Given the description of an element on the screen output the (x, y) to click on. 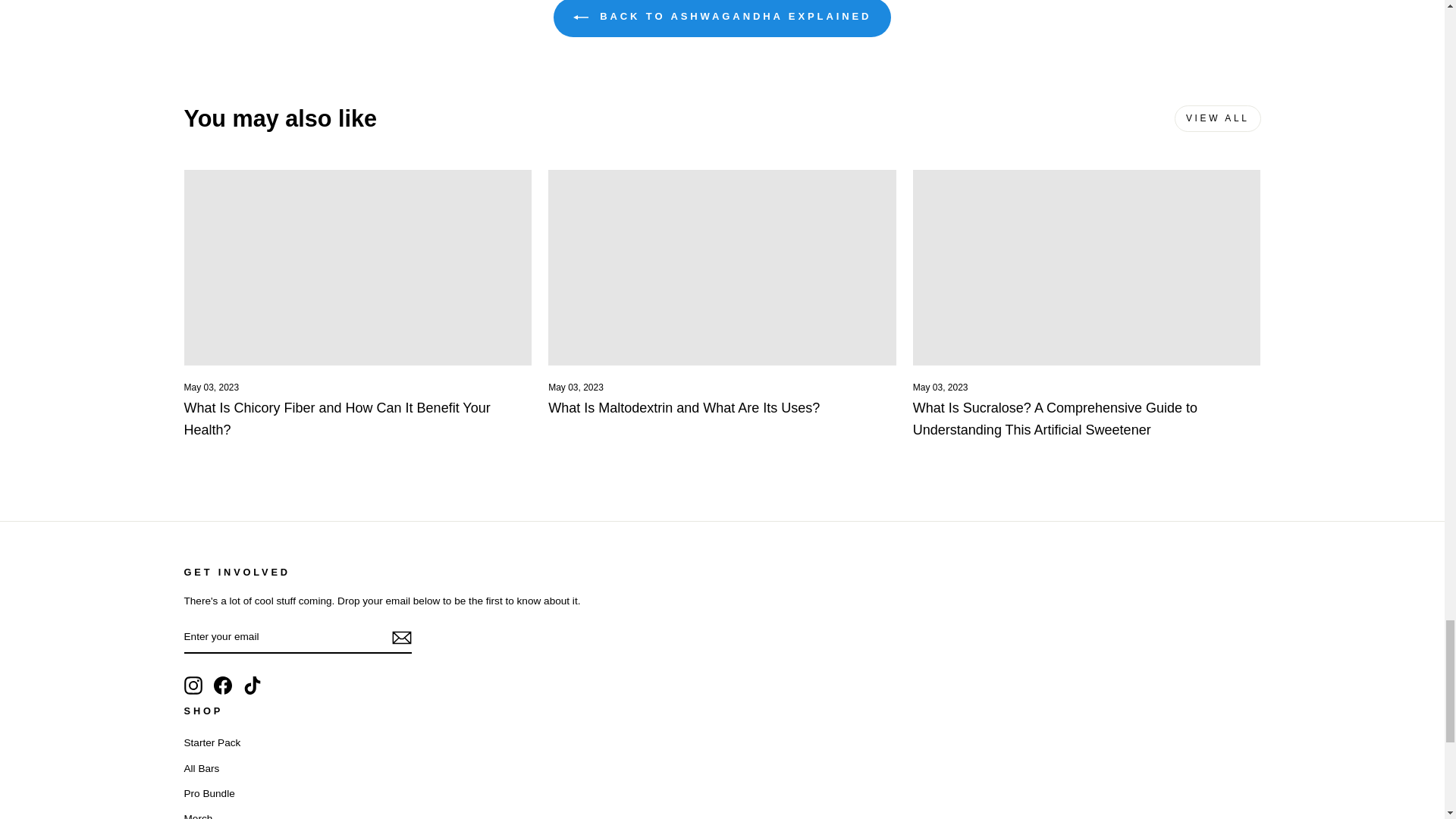
instagram (192, 685)
ICON-LEFT-ARROW BACK TO ASHWAGANDHA EXPLAINED (722, 18)
Atlas Bar on Instagram (192, 685)
ICON-LEFT-ARROW (580, 17)
icon-email (400, 637)
Atlas Bar on Facebook (222, 685)
VIEW ALL (1217, 118)
Atlas Bar on TikTok (251, 685)
What Is Chicory Fiber and How Can It Benefit Your Health? (336, 418)
